Given the description of an element on the screen output the (x, y) to click on. 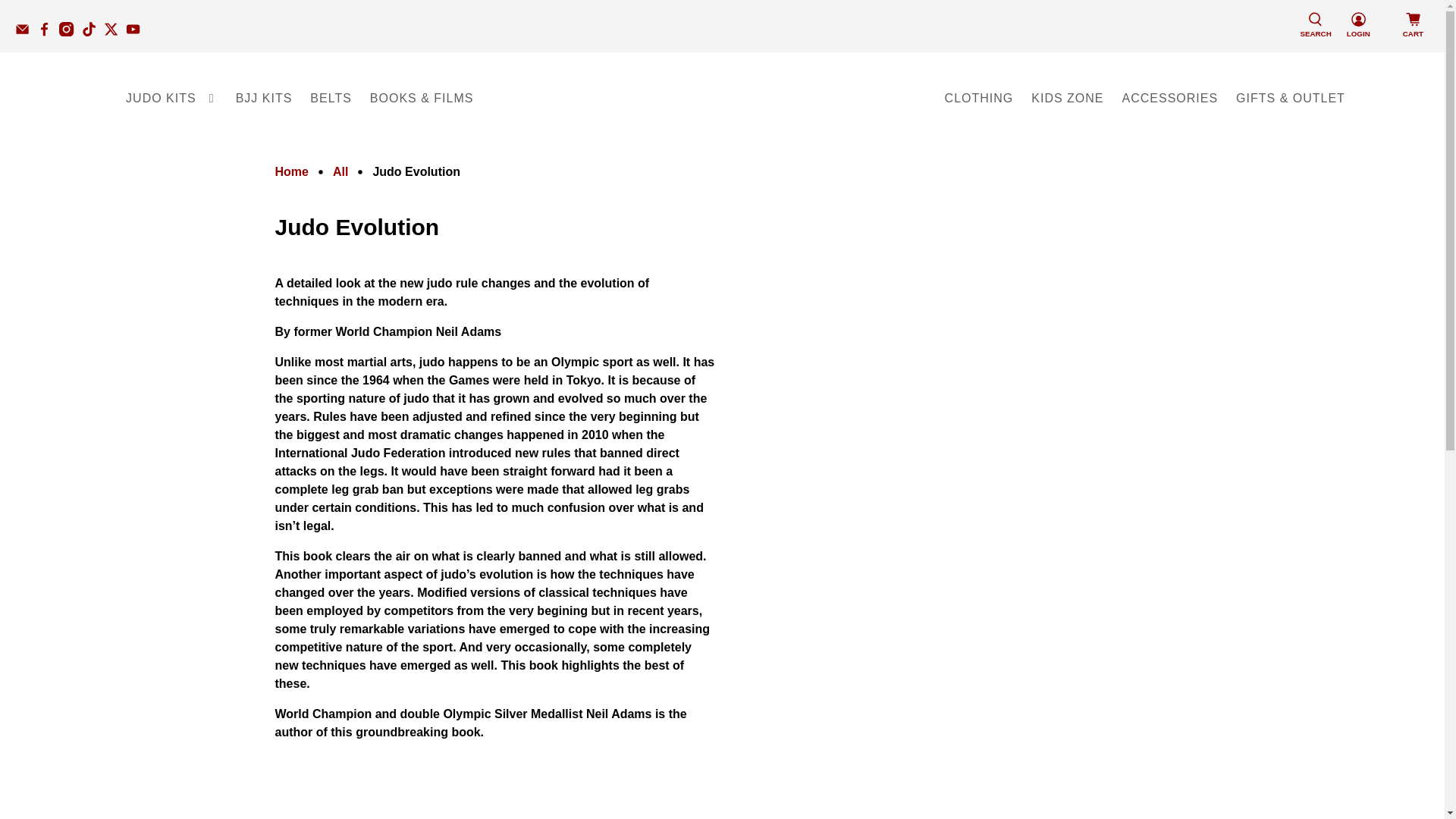
BJJ KITS (264, 97)
KIDS ZONE (1067, 97)
Fighting Films on YouTube (136, 32)
Email Fighting Films (25, 32)
CART (1412, 26)
CLOTHING (979, 97)
BELTS (331, 97)
JUDO KITS (171, 97)
Fighting Films on Instagram (70, 32)
Fighting Films on Twitter (114, 32)
Fighting Films on TikTok (92, 32)
Fighting Films on Facebook (48, 32)
Fighting Films (721, 98)
Fighting Films (291, 172)
ACCESSORIES (1170, 97)
